Given the description of an element on the screen output the (x, y) to click on. 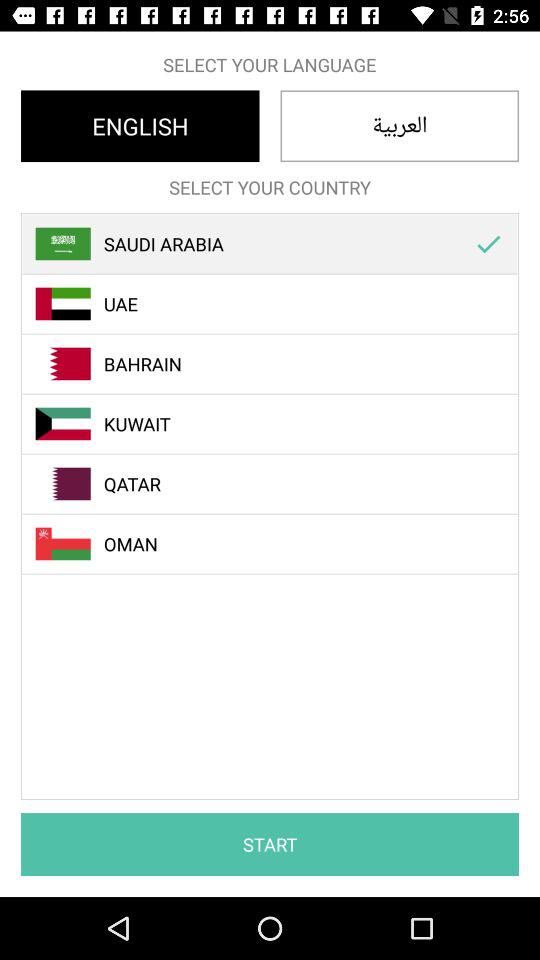
tap the icon next to the english icon (399, 126)
